Given the description of an element on the screen output the (x, y) to click on. 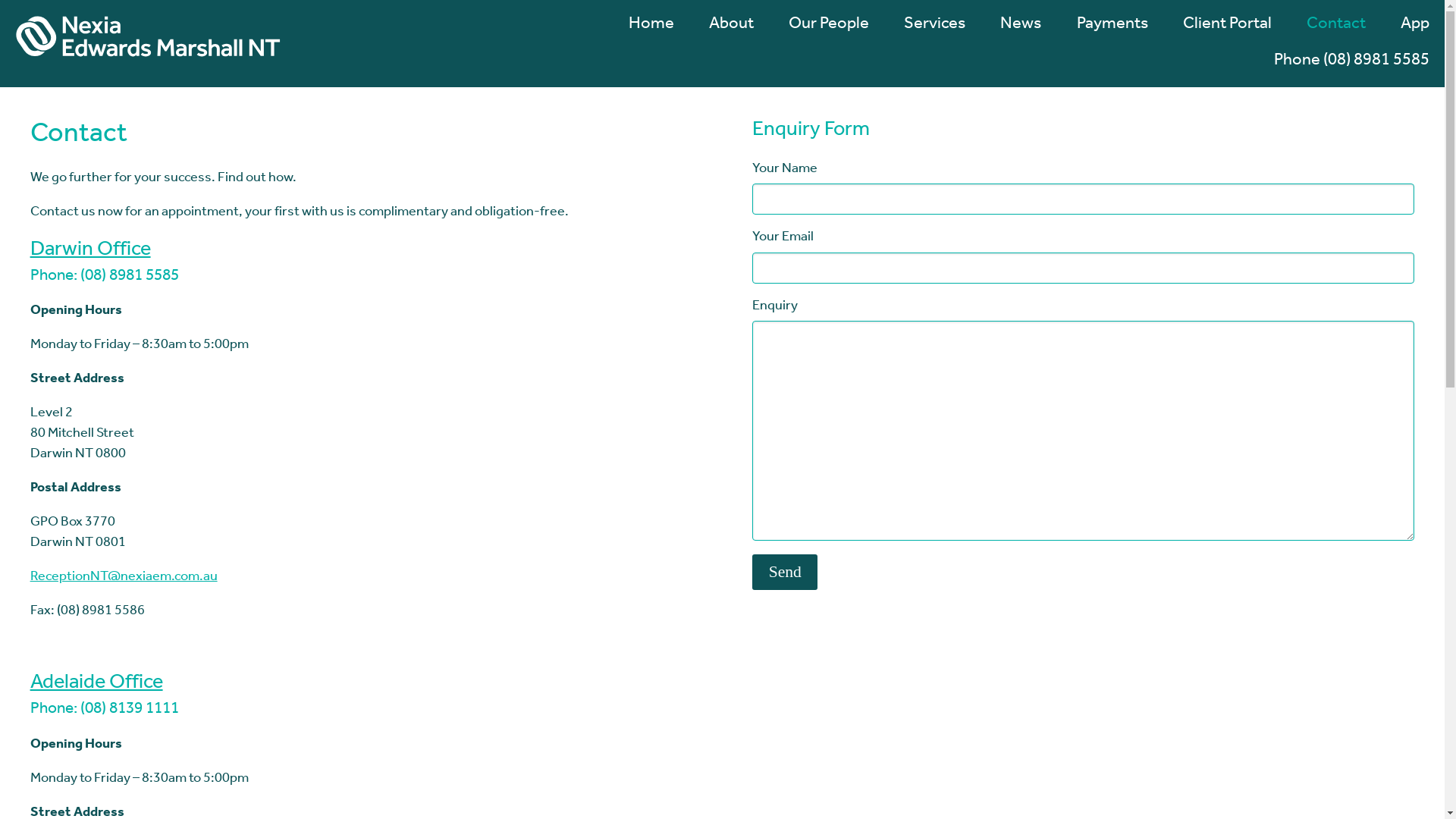
Client Portal Element type: text (1218, 33)
Services Element type: text (927, 33)
News Element type: text (1012, 33)
Send Element type: text (784, 571)
Home Element type: text (642, 33)
ReceptionNT@nexiaem.com.au Element type: text (123, 577)
App Element type: text (1407, 33)
Our People Element type: text (820, 33)
About Element type: text (722, 33)
Contact Element type: text (1327, 33)
Payments Element type: text (1104, 33)
